Given the description of an element on the screen output the (x, y) to click on. 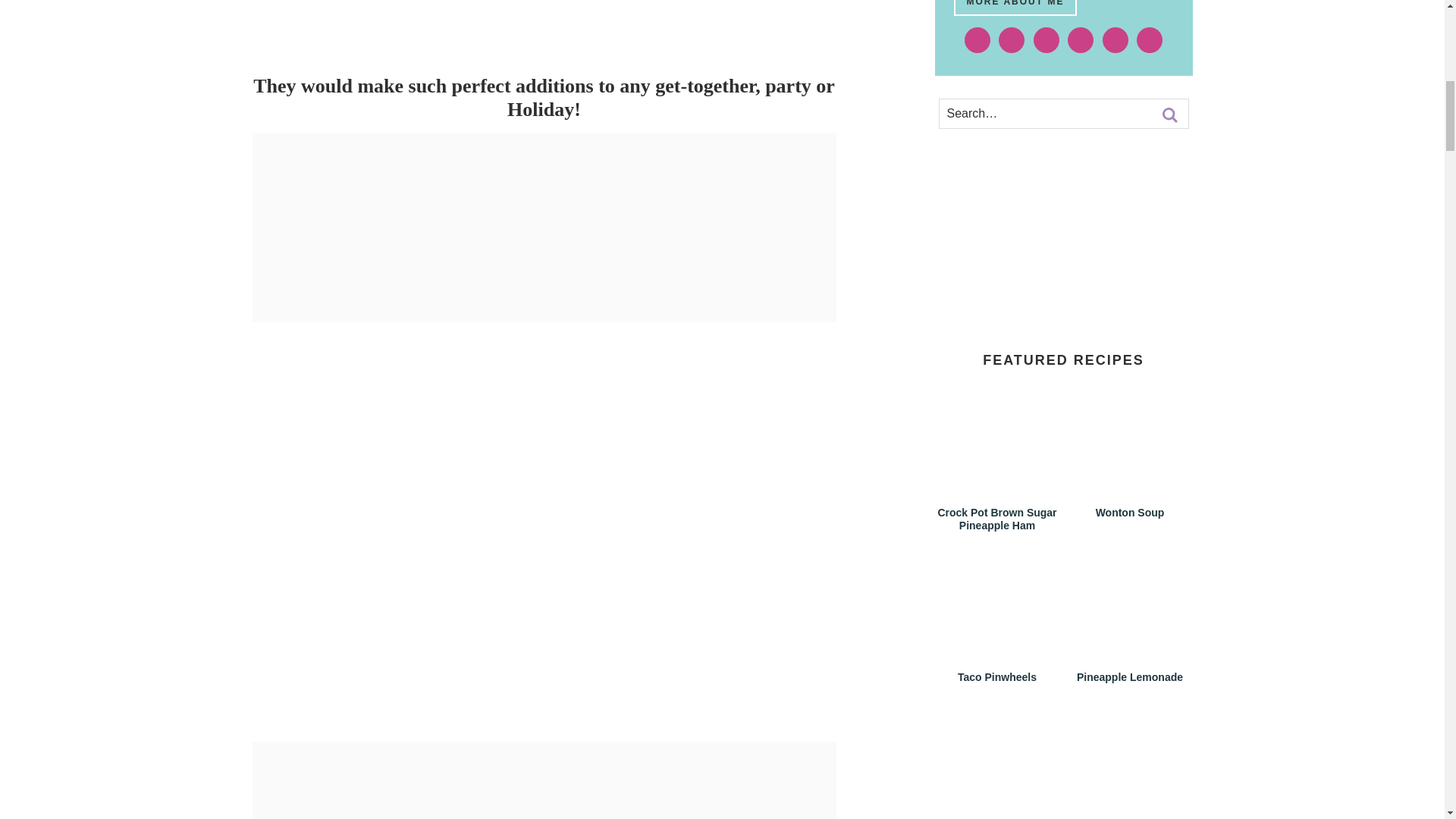
Search for (1063, 113)
